Given the description of an element on the screen output the (x, y) to click on. 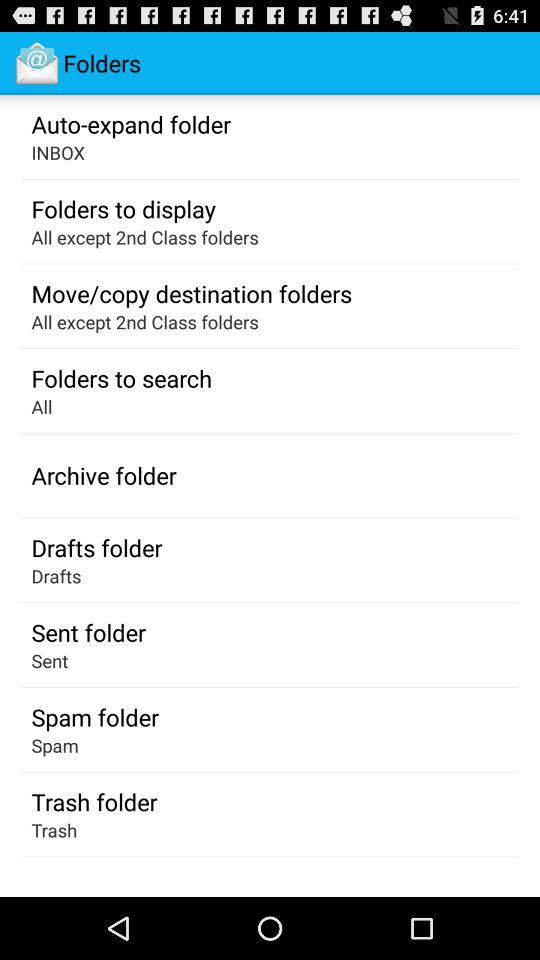
turn off app below the all except 2nd (191, 293)
